Given the description of an element on the screen output the (x, y) to click on. 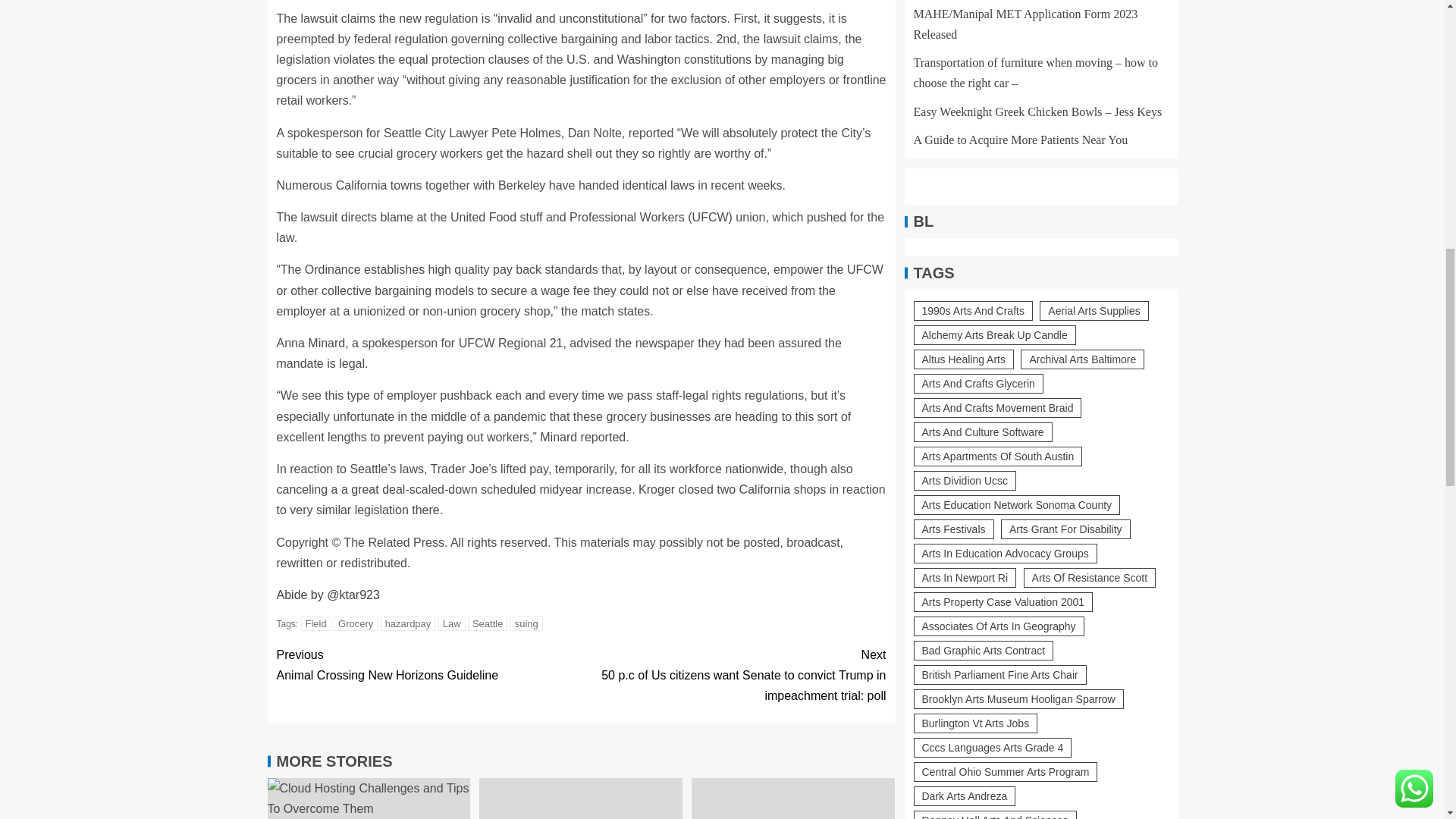
Seattle (486, 623)
Law (451, 623)
suing (527, 623)
Grocery (355, 623)
Field (316, 623)
hazardpay (407, 623)
Cloud Hosting Challenges and Tips To Overcome Them (368, 798)
